Given the description of an element on the screen output the (x, y) to click on. 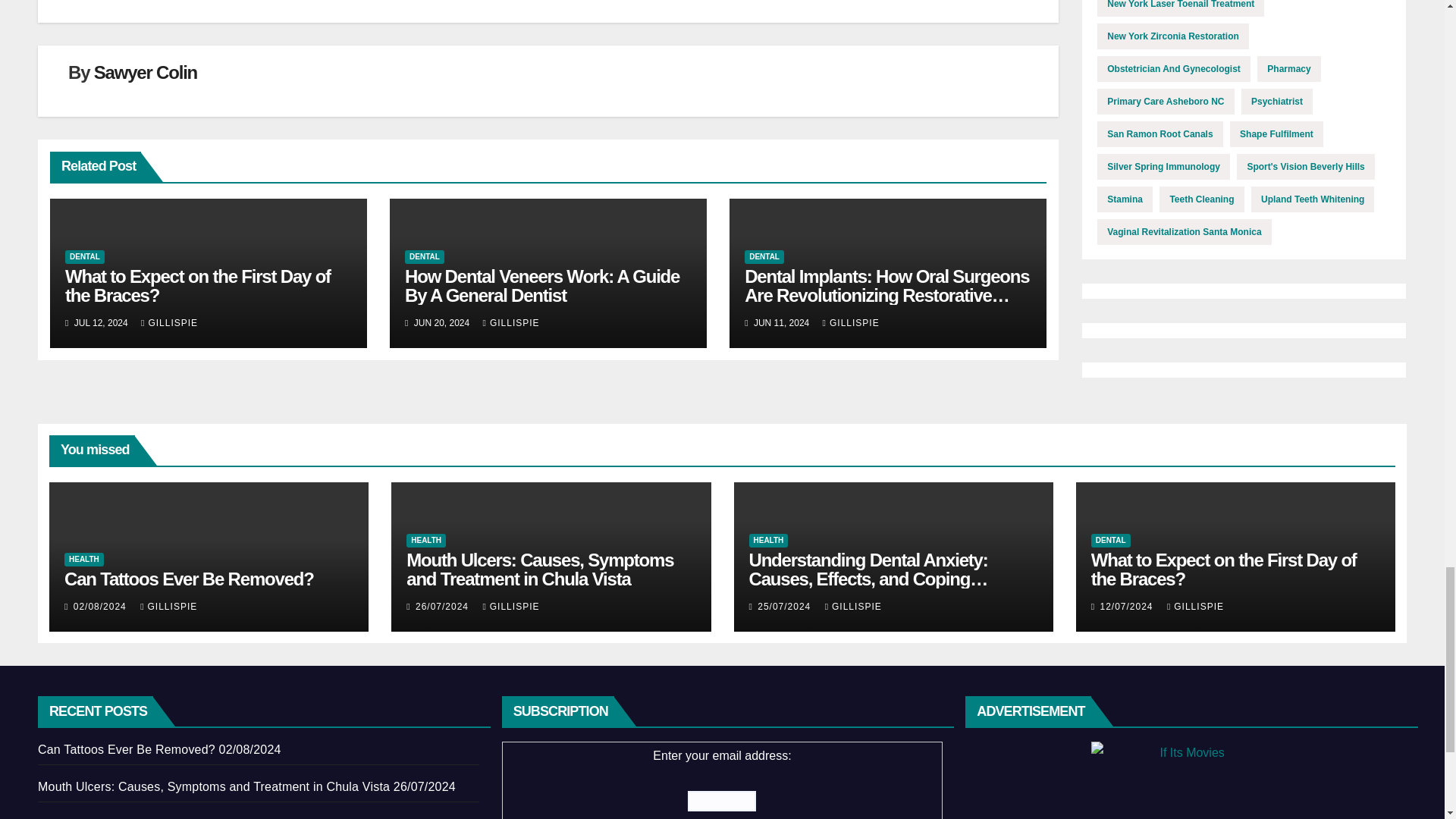
DENTAL (84, 256)
Sawyer Colin (145, 72)
Permalink to: What to Expect on the First Day of the Braces? (197, 285)
Permalink to: Can Tattoos Ever Be Removed? (189, 578)
